Given the description of an element on the screen output the (x, y) to click on. 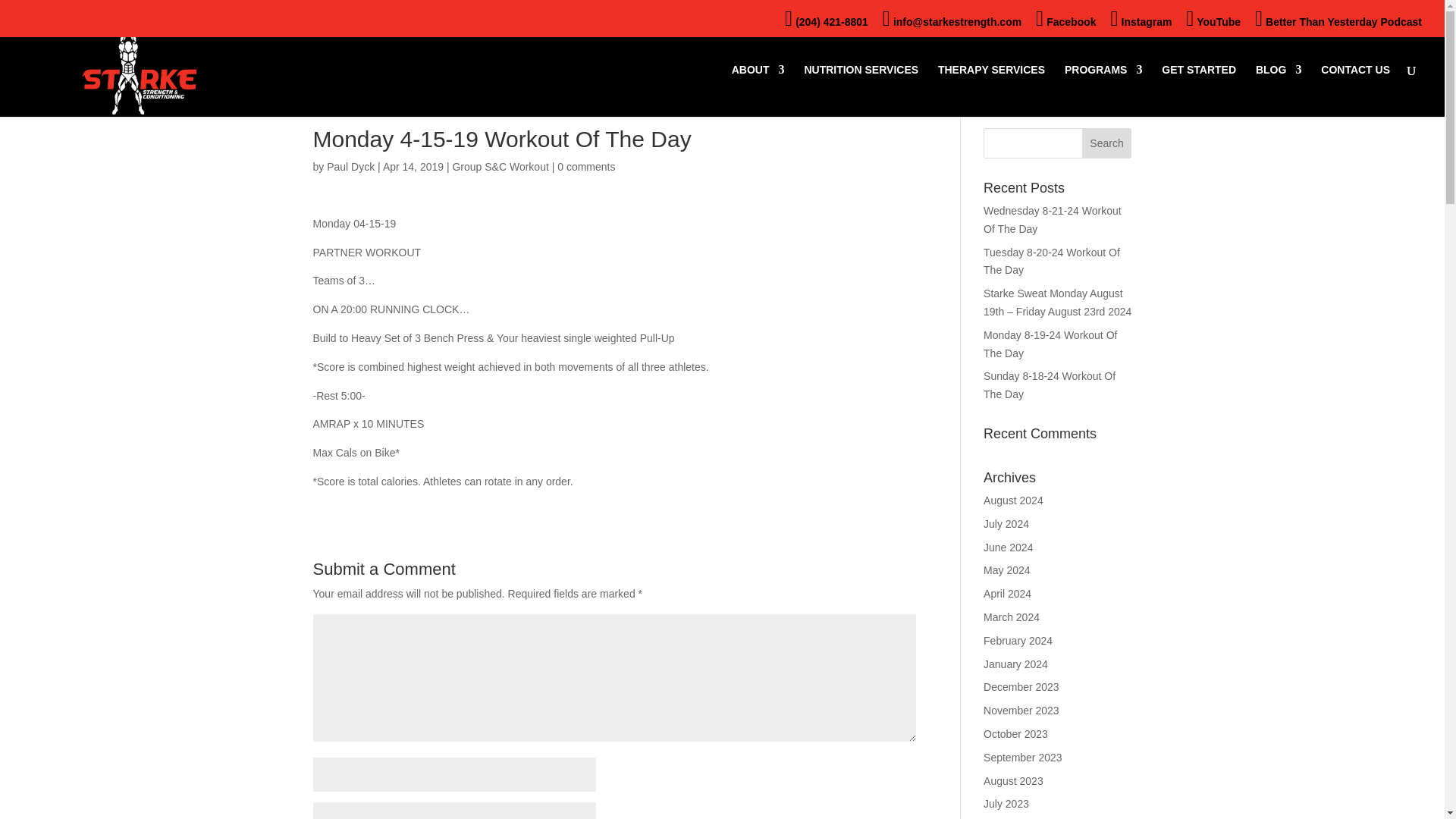
YouTube (1213, 21)
Posts by Paul Dyck (350, 166)
Facebook (1065, 21)
Instagram (1140, 21)
Search (1106, 142)
NUTRITION SERVICES (860, 90)
PROGRAMS (1102, 90)
CONTACT US (1355, 90)
ABOUT (758, 90)
Better Than Yesterday Podcast (1338, 21)
